Given the description of an element on the screen output the (x, y) to click on. 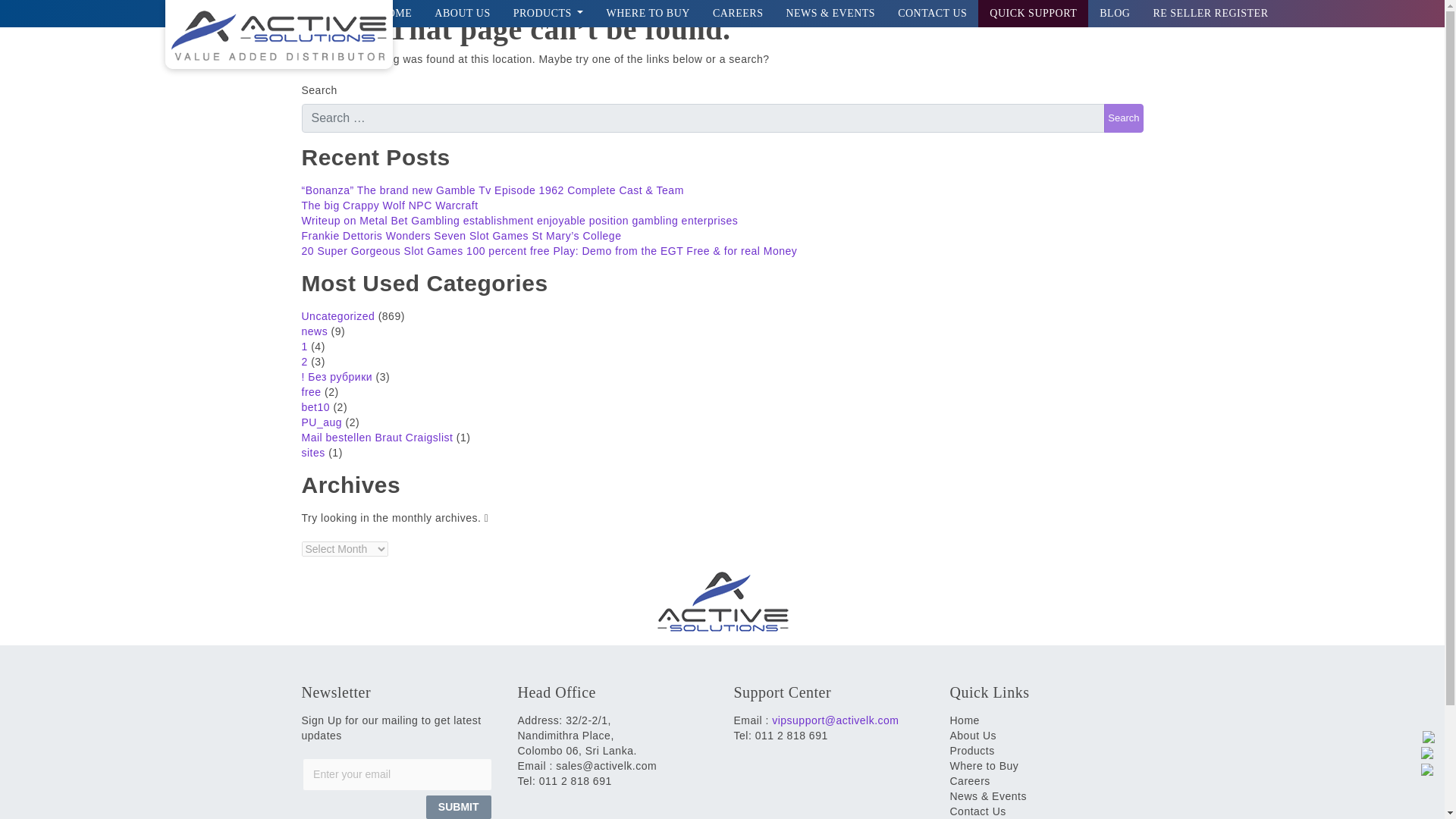
Products (548, 13)
Quick Support (1032, 13)
QUICK SUPPORT (1032, 13)
The big Crappy Wolf NPC Warcraft (390, 205)
RE SELLER REGISTER (1210, 13)
ABOUT US (461, 13)
CONTACT US (932, 13)
Home (395, 13)
About Us (461, 13)
Blog (1114, 13)
